Given the description of an element on the screen output the (x, y) to click on. 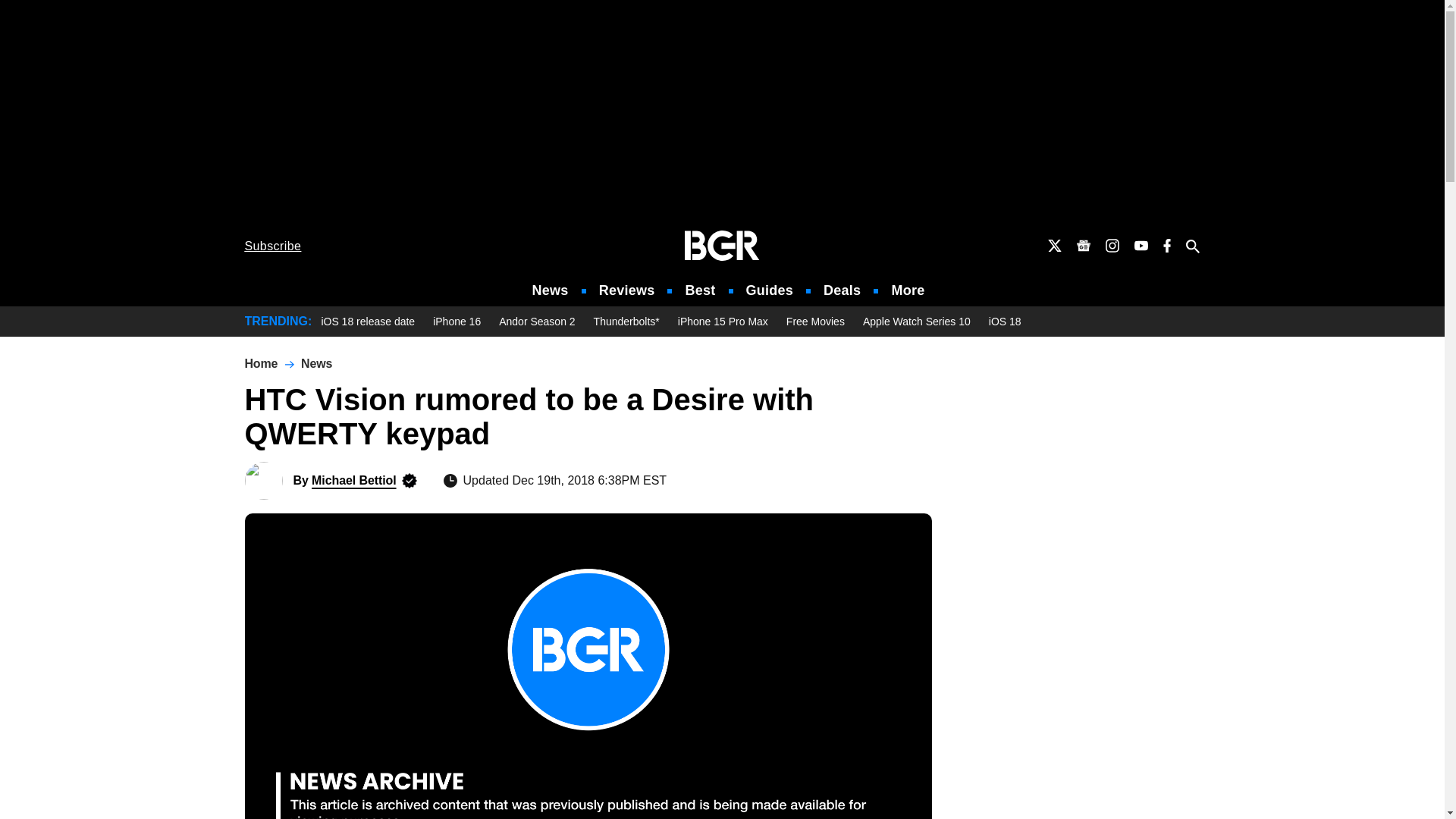
Posts by Michael Bettiol (353, 480)
More (907, 290)
Best (699, 290)
Deals (842, 290)
News (550, 290)
Reviews (626, 290)
Subscribe (272, 245)
Guides (769, 290)
